Given the description of an element on the screen output the (x, y) to click on. 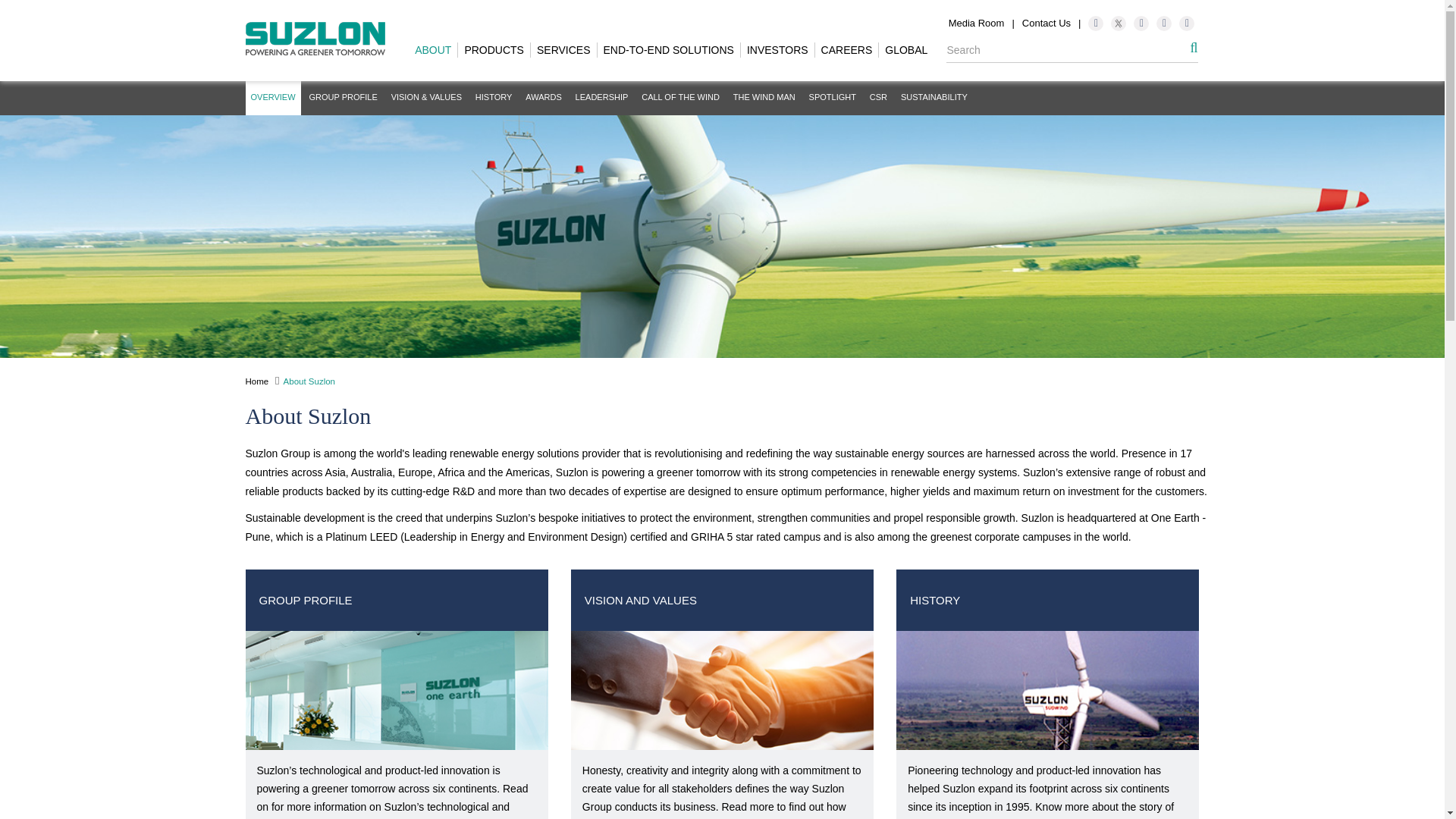
PRODUCTS (494, 49)
Media Room (976, 23)
Contact Us (1045, 23)
ABOUT (433, 49)
END-TO-END SOLUTIONS (668, 49)
Suzlon Energy Ltd (315, 38)
SERVICES (563, 49)
